Given the description of an element on the screen output the (x, y) to click on. 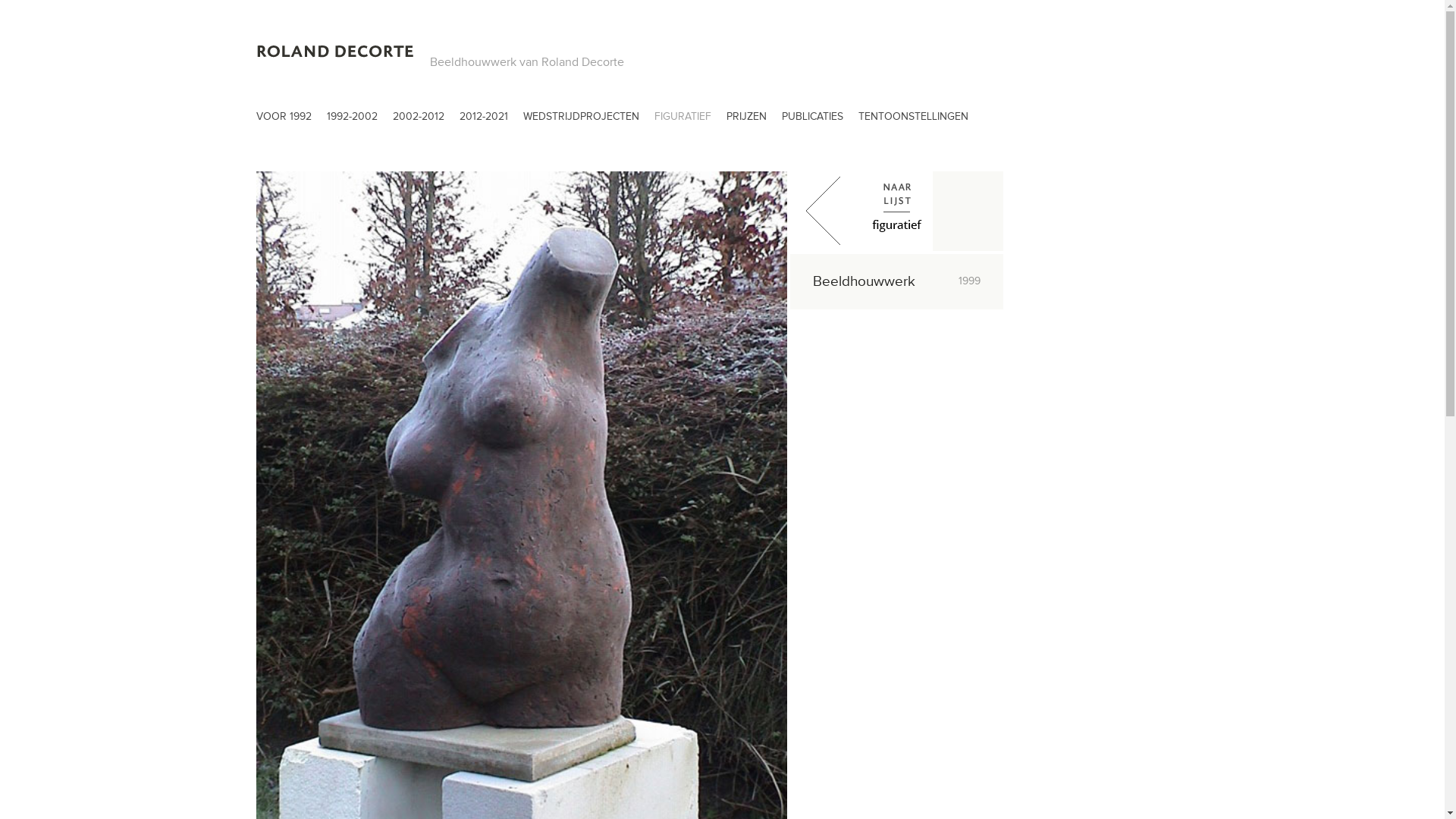
TENTOONSTELLINGEN Element type: text (913, 119)
PRIJZEN Element type: text (746, 119)
1992-2002 Element type: text (351, 119)
2012-2021 Element type: text (483, 119)
PUBLICATIES Element type: text (811, 119)
prev Element type: hover (825, 211)
VOOR 1992 Element type: text (283, 119)
list Element type: hover (896, 211)
WEDSTRIJDPROJECTEN Element type: text (581, 119)
2002-2012 Element type: text (418, 119)
